Given the description of an element on the screen output the (x, y) to click on. 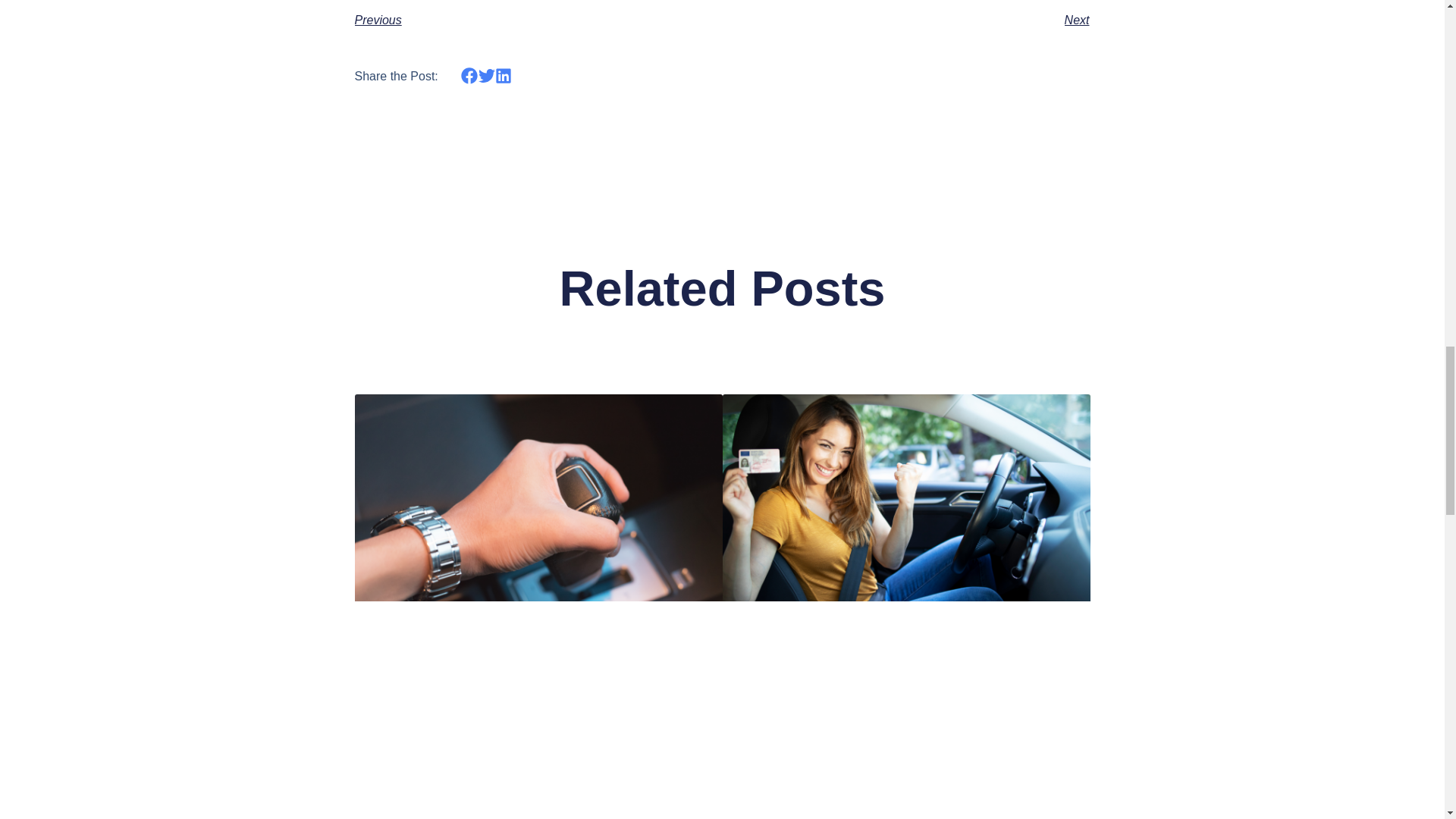
Next (905, 20)
Previous (538, 20)
